Given the description of an element on the screen output the (x, y) to click on. 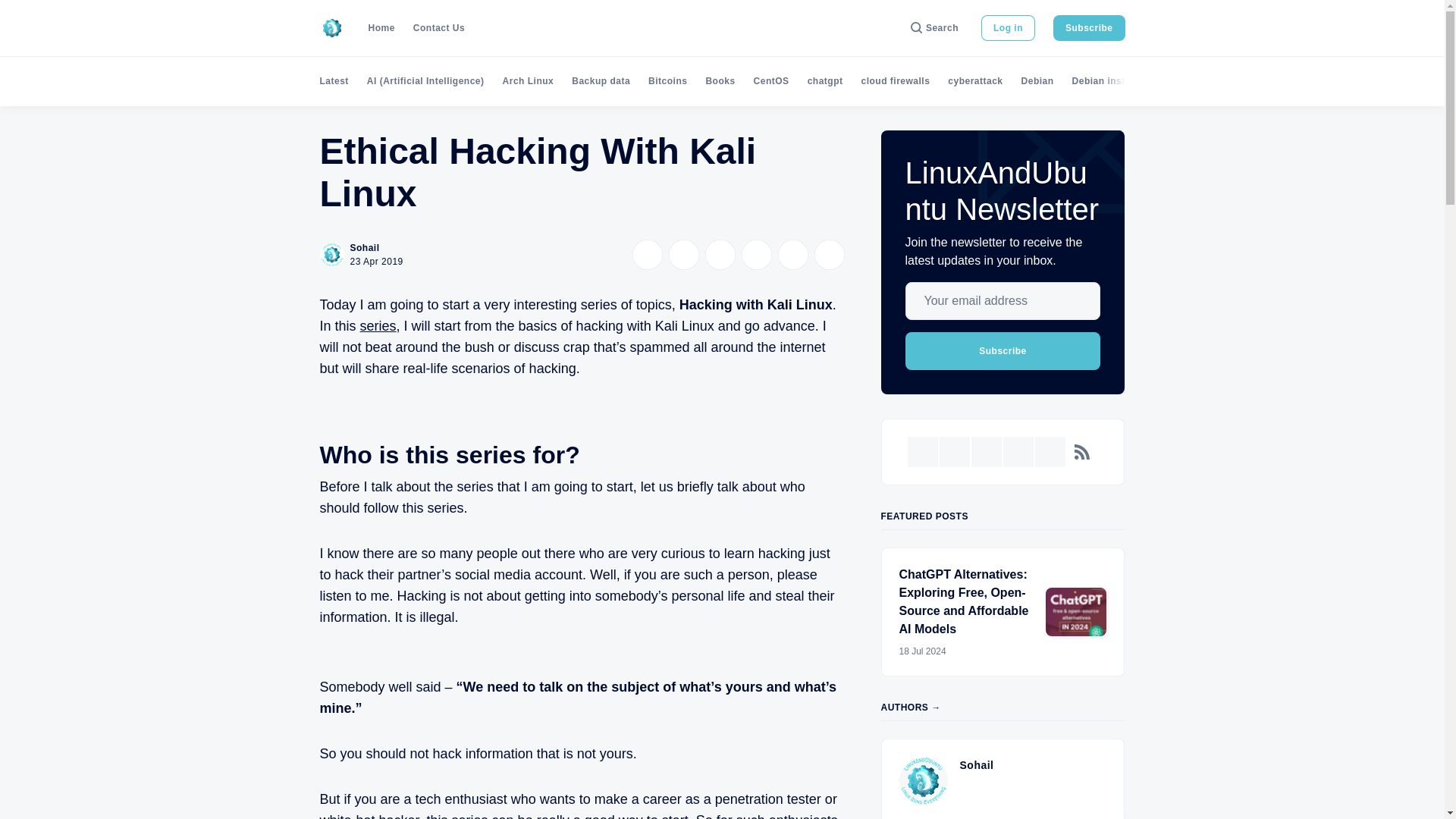
Search (933, 28)
Contact Us (438, 28)
Deepin OS (1202, 81)
Docker (1262, 81)
Subscribe (1088, 27)
DOSBox (1316, 81)
Debian installation (1115, 81)
Debian (1038, 81)
chatgpt (825, 81)
Bitcoins (667, 81)
Arch Linux (528, 81)
Drupal (1370, 81)
CentOS (771, 81)
Backup data (601, 81)
Latest (334, 81)
